Given the description of an element on the screen output the (x, y) to click on. 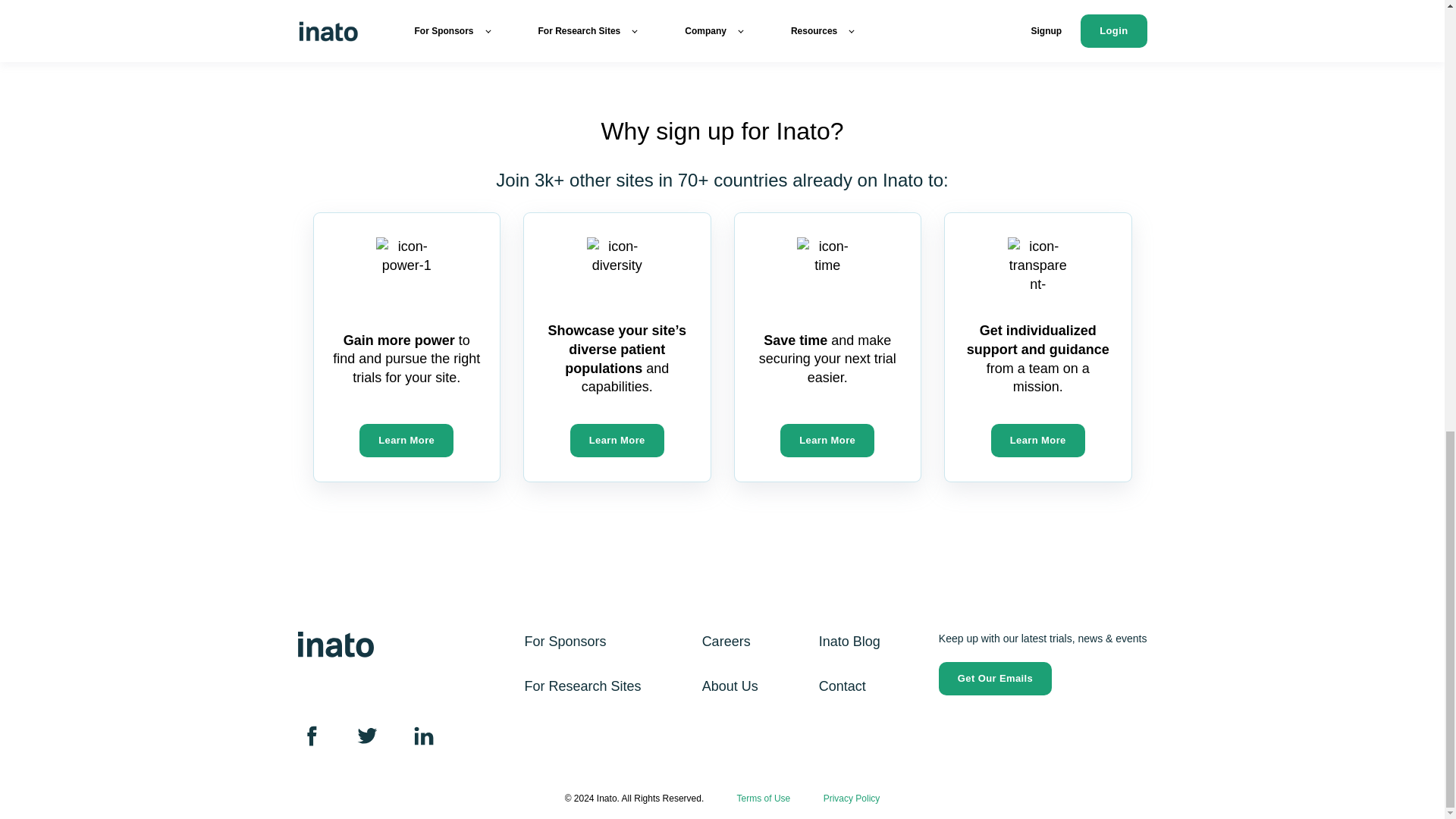
About Us (729, 686)
Careers (726, 641)
For Sponsors (565, 641)
Inato (334, 644)
Learn More (1037, 440)
Learn More (405, 440)
Learn More (616, 440)
Learn More (827, 440)
For Research Sites (583, 686)
Inato Blog (849, 641)
